Given the description of an element on the screen output the (x, y) to click on. 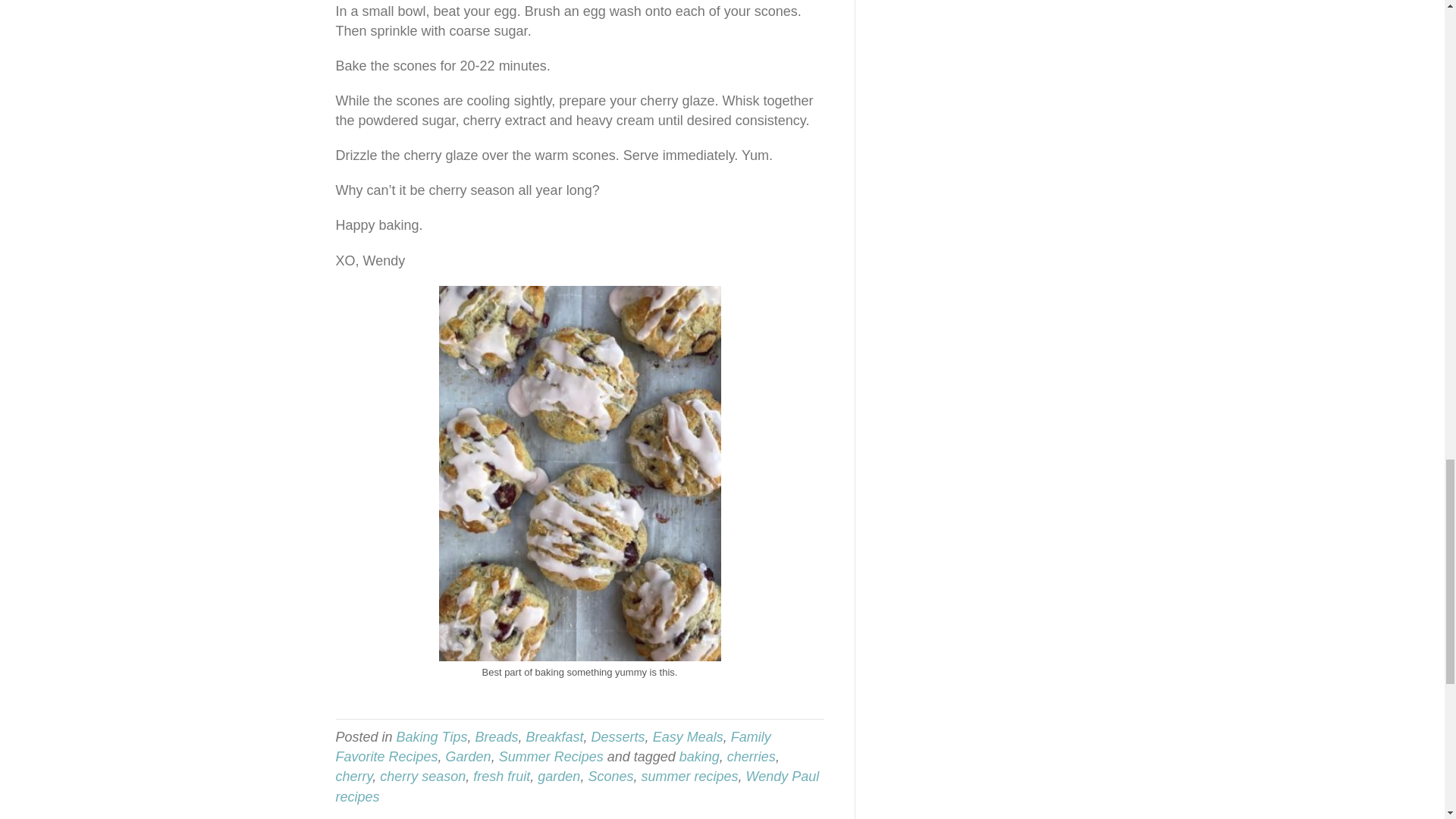
Breads (496, 736)
cherries (751, 756)
Summer Recipes (551, 756)
Baking Tips (431, 736)
baking (699, 756)
cherry (353, 776)
Garden (468, 756)
Easy Meals (687, 736)
Family Favorite Recipes (552, 746)
Desserts (618, 736)
